Given the description of an element on the screen output the (x, y) to click on. 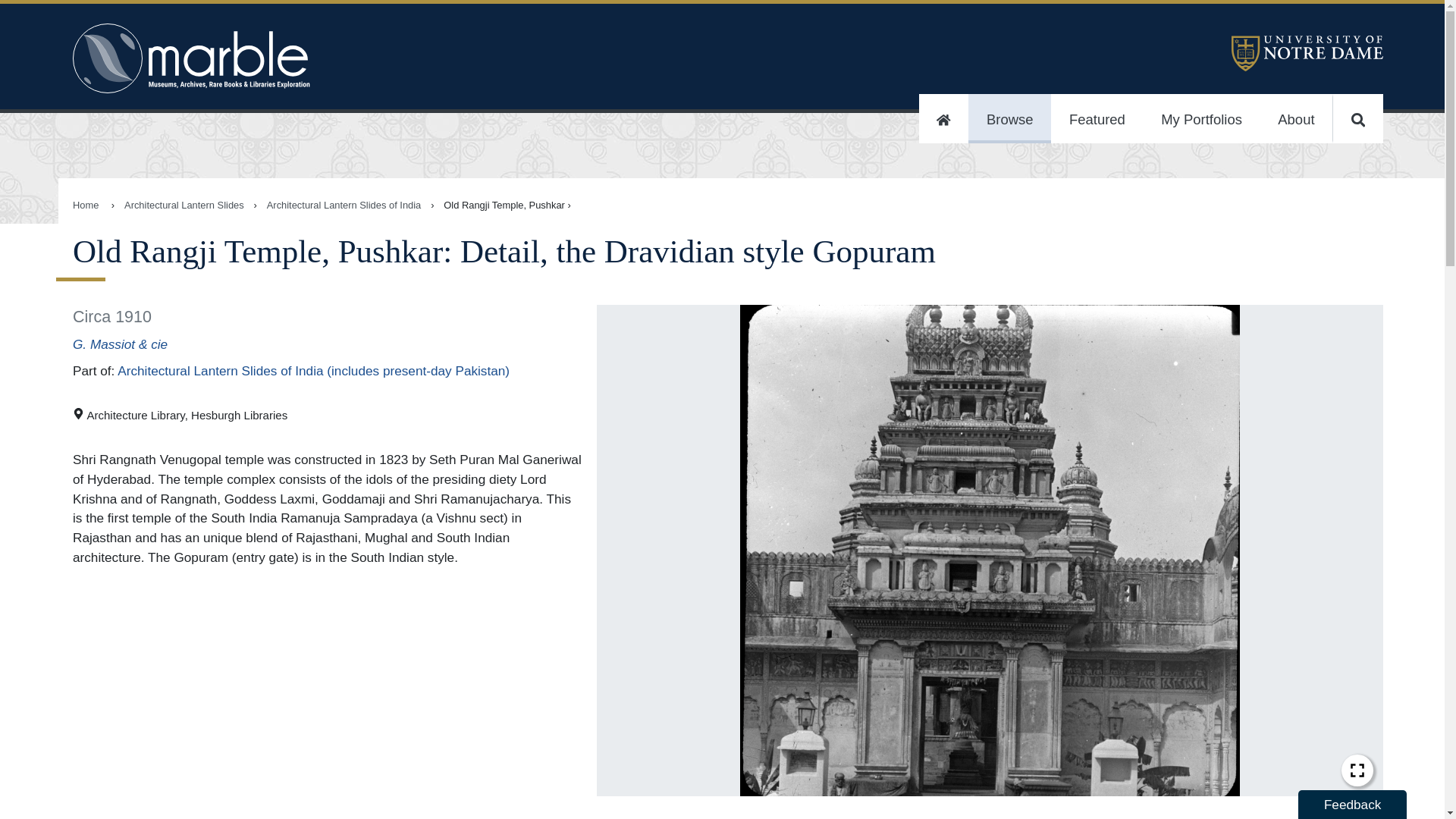
My Portfolios (1201, 118)
show search (1357, 118)
Architectural Lantern Slides (183, 204)
Home (943, 118)
Home (85, 204)
Architectural Lantern Slides of India (344, 204)
University of Notre Dame (1307, 66)
Open in external viewer application (1356, 770)
